Given the description of an element on the screen output the (x, y) to click on. 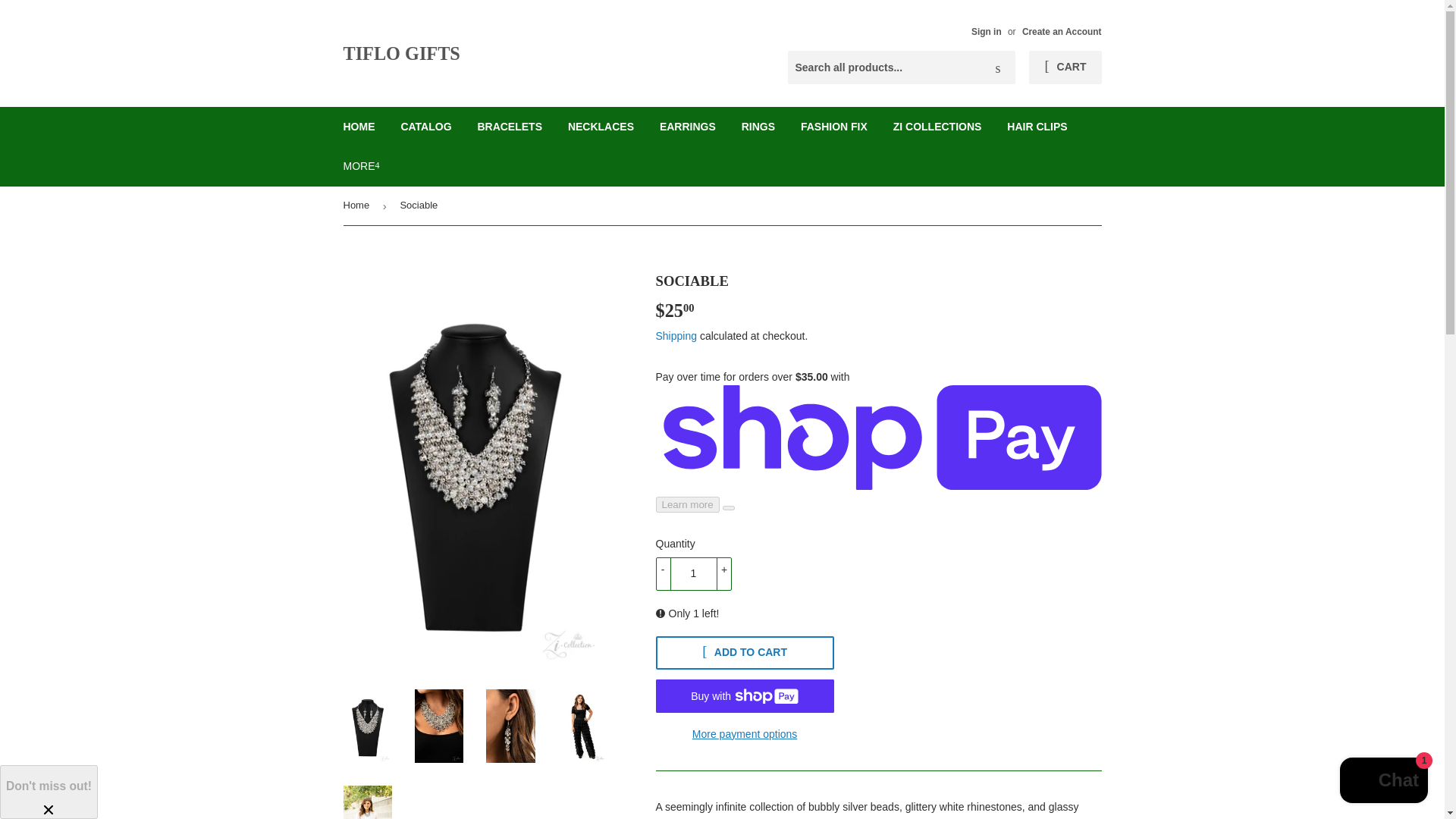
EARRINGS (686, 126)
ZI COLLECTIONS (937, 126)
CATALOG (425, 126)
Shopify online store chat (1383, 781)
HOME (359, 126)
FASHION FIX (834, 126)
1 (692, 573)
HAIR CLIPS (1036, 126)
RINGS (758, 126)
CART (1064, 67)
MORE (361, 165)
Sign in (986, 31)
NECKLACES (600, 126)
Search (997, 68)
BRACELETS (509, 126)
